Given the description of an element on the screen output the (x, y) to click on. 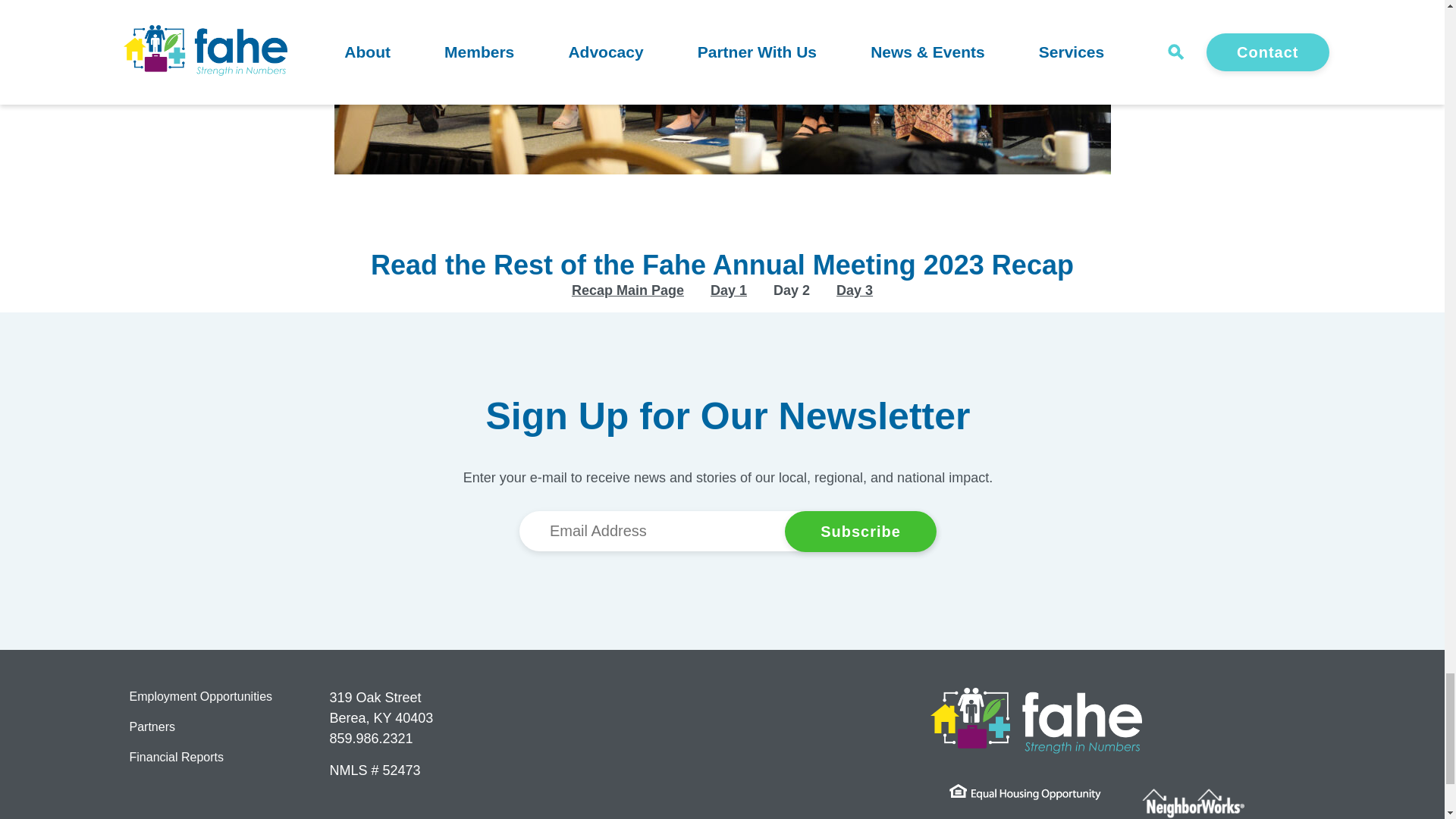
Recap Main Page (628, 290)
Subscribe (860, 531)
